Given the description of an element on the screen output the (x, y) to click on. 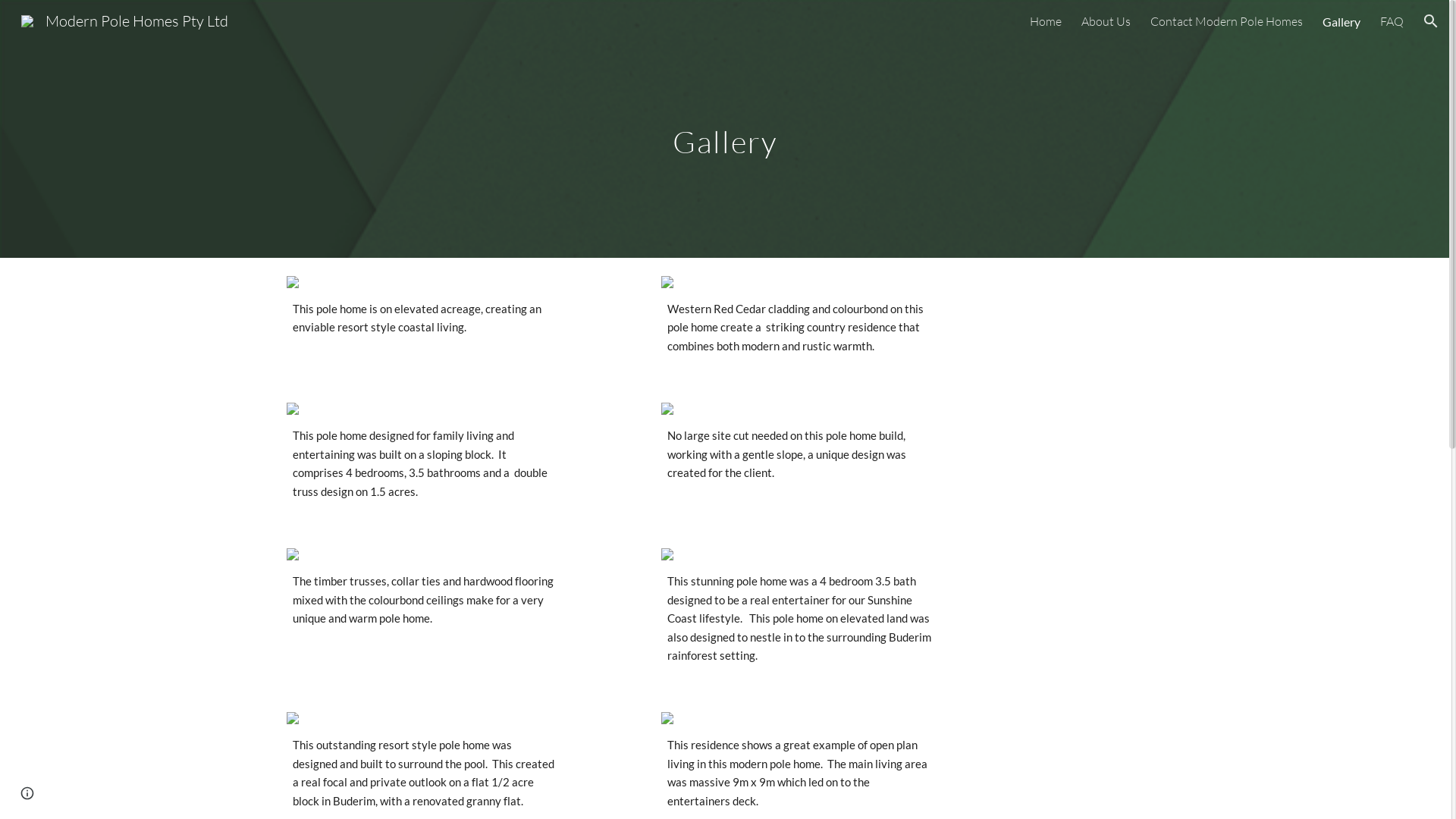
Contact Modern Pole Homes Element type: text (1226, 20)
Modern Pole Homes Pty Ltd Element type: text (124, 18)
About Us Element type: text (1105, 20)
Gallery Element type: text (1341, 20)
FAQ Element type: text (1391, 20)
Home Element type: text (1045, 20)
